Given the description of an element on the screen output the (x, y) to click on. 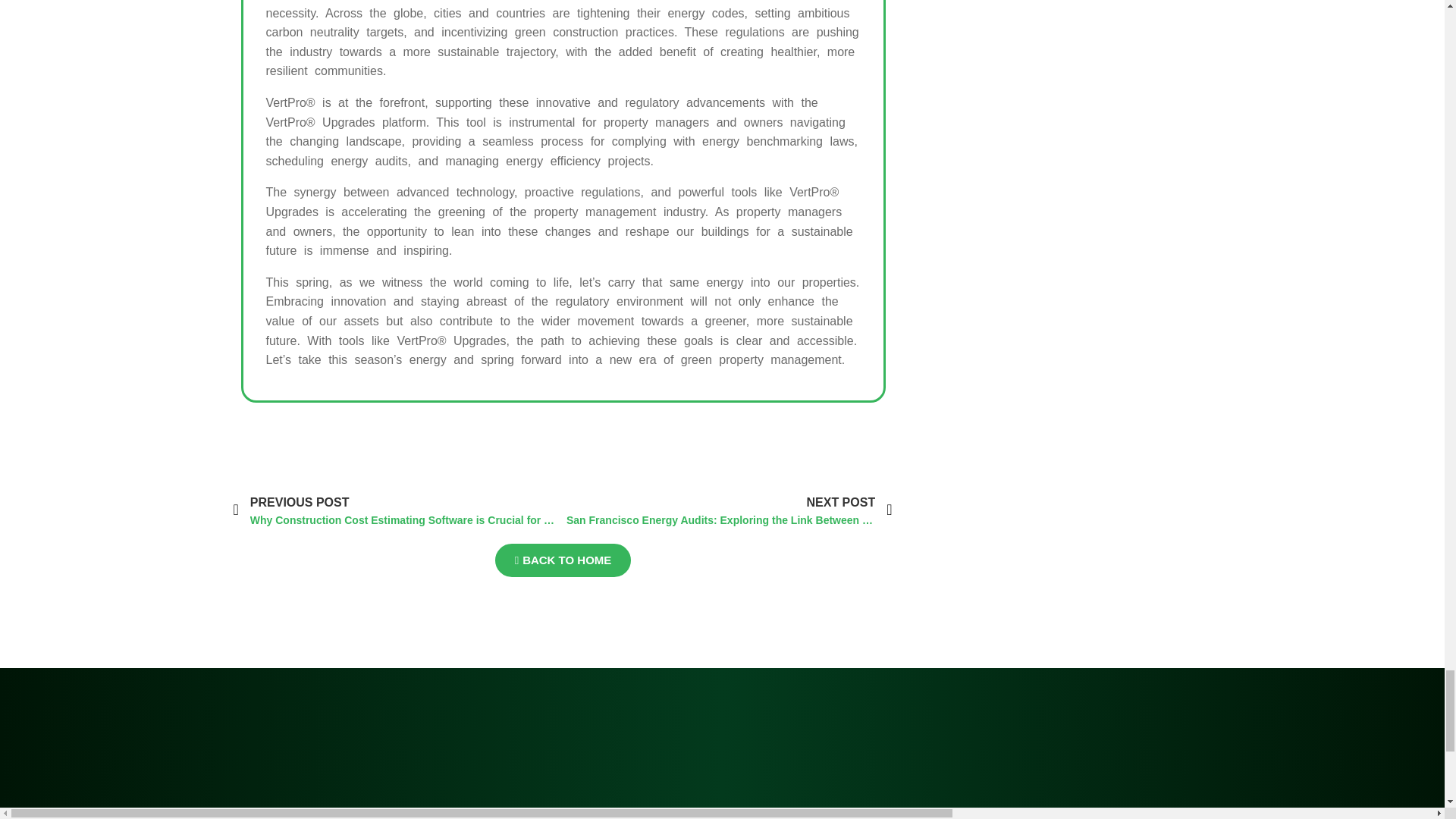
BACK TO HOME (563, 560)
